Given the description of an element on the screen output the (x, y) to click on. 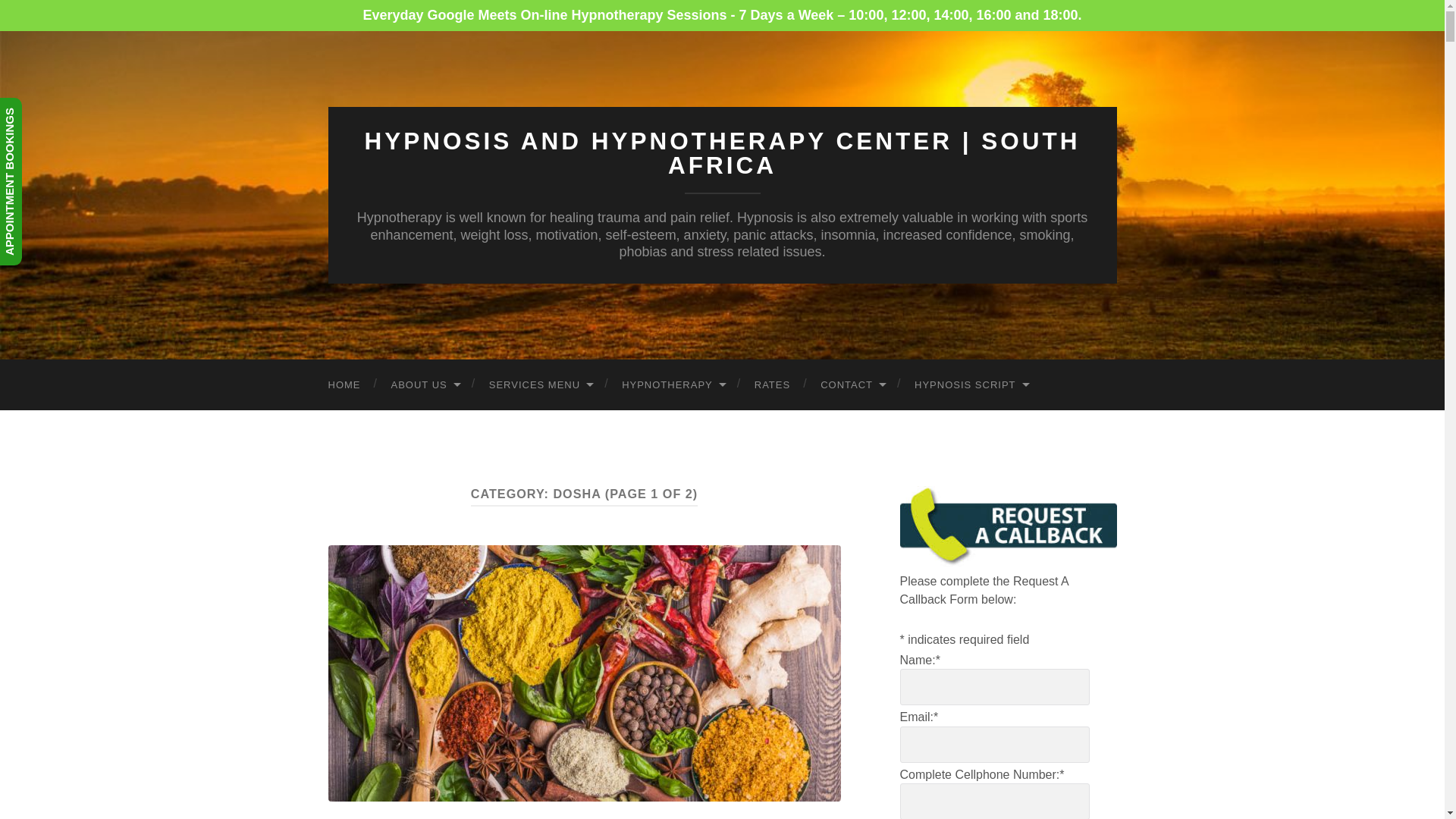
HOME (344, 384)
SERVICES MENU (540, 384)
ABOUT US (424, 384)
HYPNOTHERAPY (673, 384)
